Given the description of an element on the screen output the (x, y) to click on. 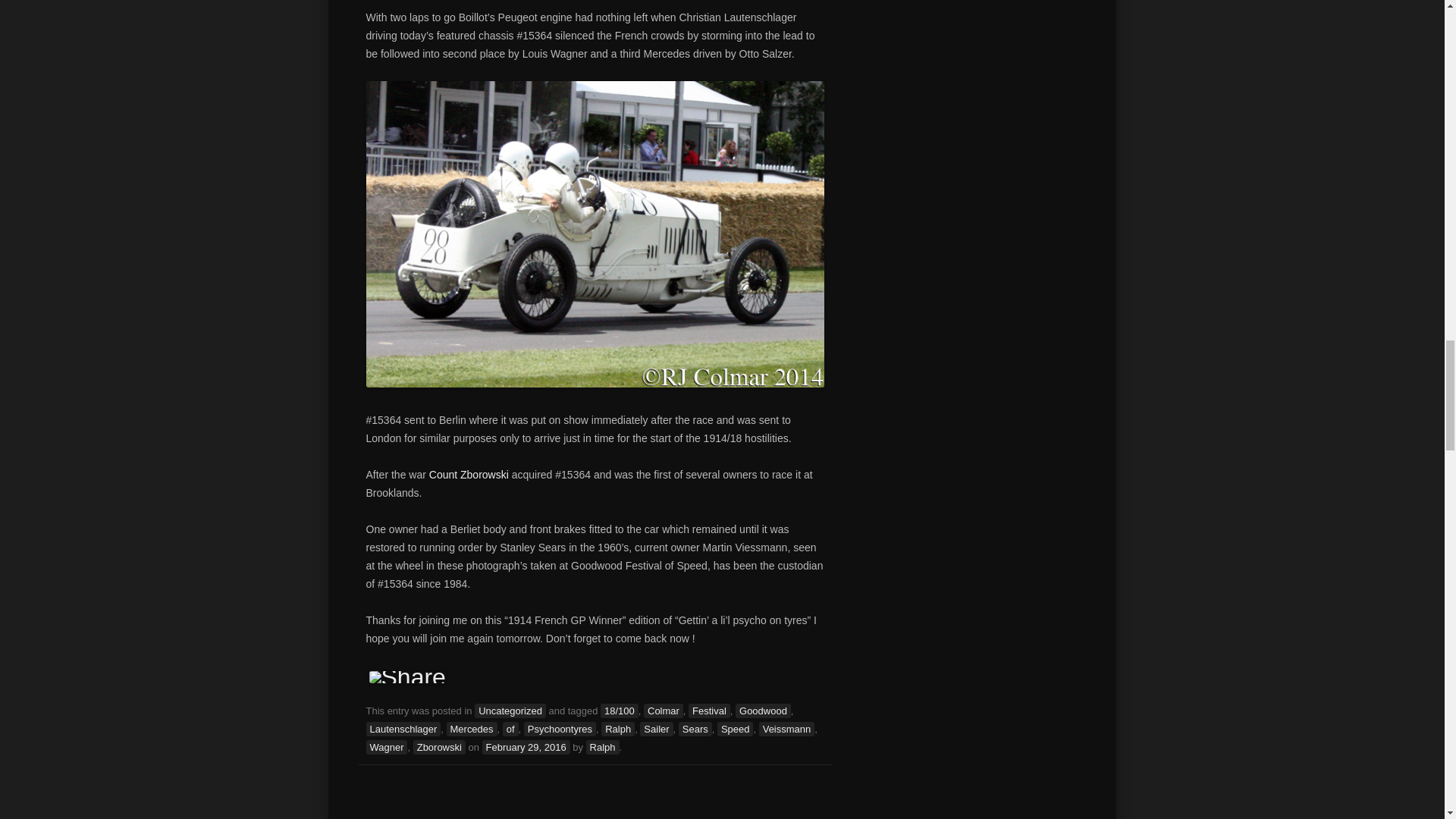
Festival (709, 710)
Count Zborowski (468, 474)
Sears (694, 728)
February 29, 2016 (525, 747)
Goodwood (762, 710)
Sailer (656, 728)
of (510, 728)
Psychoontyres (559, 728)
Ralph (603, 747)
12:01 am (525, 747)
Veissmann (786, 728)
Ralph (617, 728)
Mercedes (471, 728)
Lautenschlager (403, 728)
Colmar (662, 710)
